Given the description of an element on the screen output the (x, y) to click on. 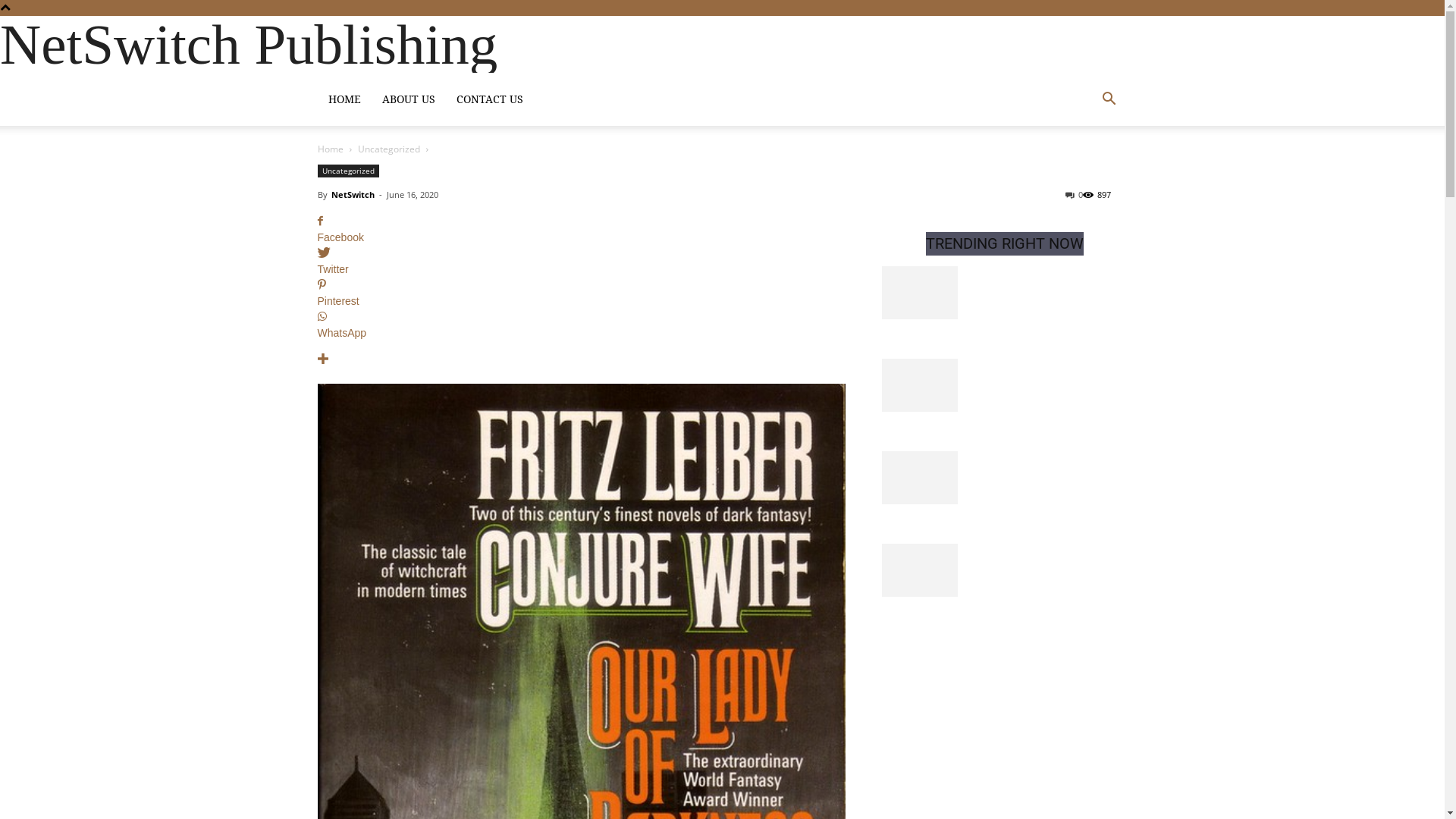
ABOUT US Element type: text (408, 98)
0 Element type: text (1073, 194)
Pinterest Element type: text (580, 293)
NetSwitch Publishing Element type: text (248, 59)
WhatsApp Element type: text (580, 325)
HOME Element type: text (343, 98)
Home Element type: text (329, 148)
Uncategorized Element type: text (347, 170)
Search Element type: text (1085, 168)
Twitter Element type: text (580, 261)
CONTACT US Element type: text (489, 98)
Facebook Element type: text (580, 229)
NetSwitch Element type: text (351, 194)
Uncategorized Element type: text (388, 148)
